Given the description of an element on the screen output the (x, y) to click on. 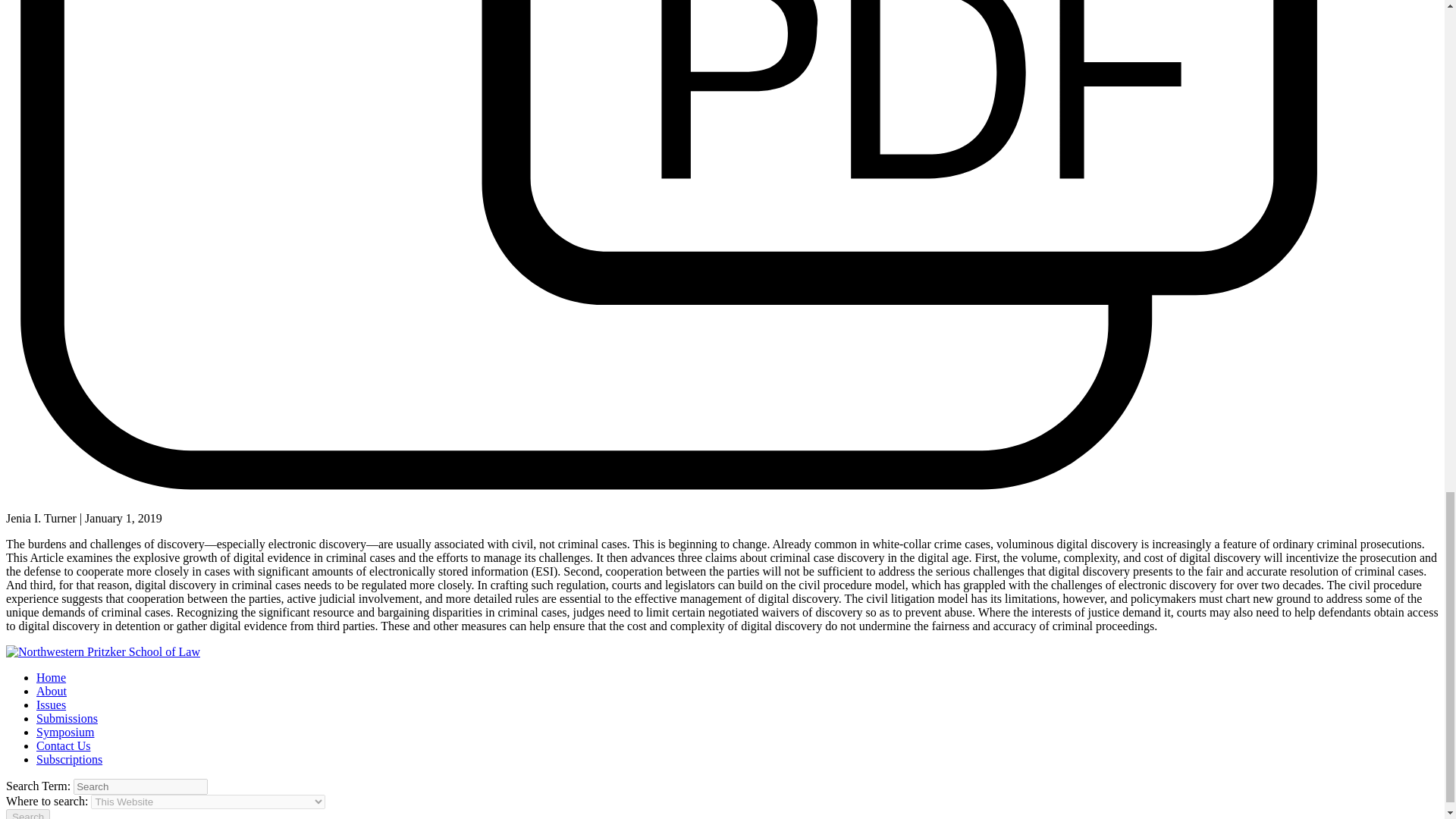
Home (50, 676)
Symposium (65, 731)
Northwestern Pritzker School of Law (102, 651)
Subscriptions (68, 758)
Contact Us (63, 745)
Issues (50, 704)
About (51, 690)
Submissions (66, 717)
